Given the description of an element on the screen output the (x, y) to click on. 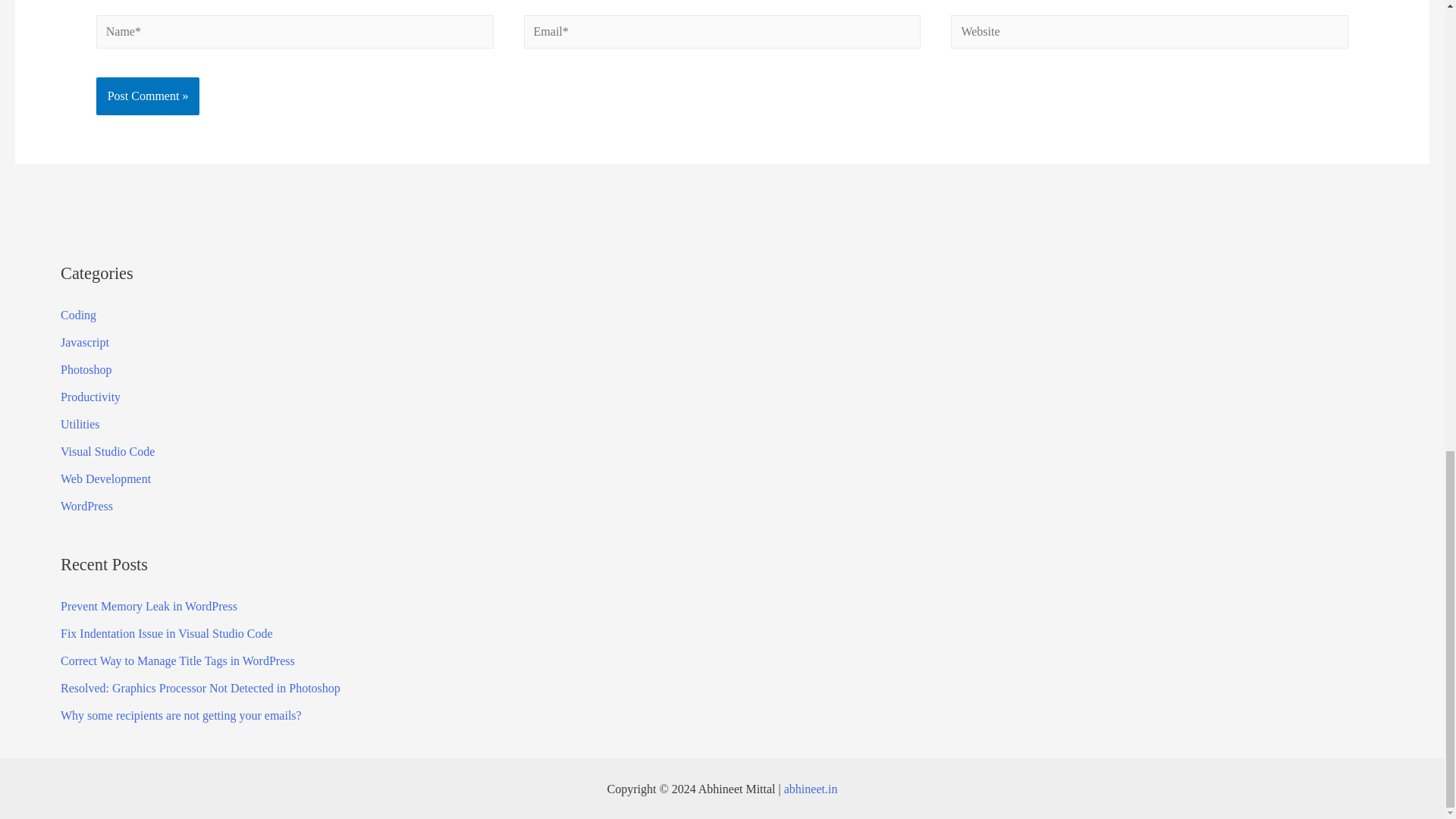
Why some recipients are not getting your emails? (181, 715)
Javascript (85, 341)
Correct Way to Manage Title Tags in WordPress (178, 660)
WordPress (87, 505)
Productivity (90, 396)
Photoshop (86, 369)
Resolved: Graphics Processor Not Detected in Photoshop (200, 687)
abhineet.in (811, 788)
Fix Indentation Issue in Visual Studio Code (167, 633)
Coding (78, 314)
Utilities (80, 423)
Web Development (106, 478)
Prevent Memory Leak in WordPress (149, 605)
Visual Studio Code (107, 451)
